Given the description of an element on the screen output the (x, y) to click on. 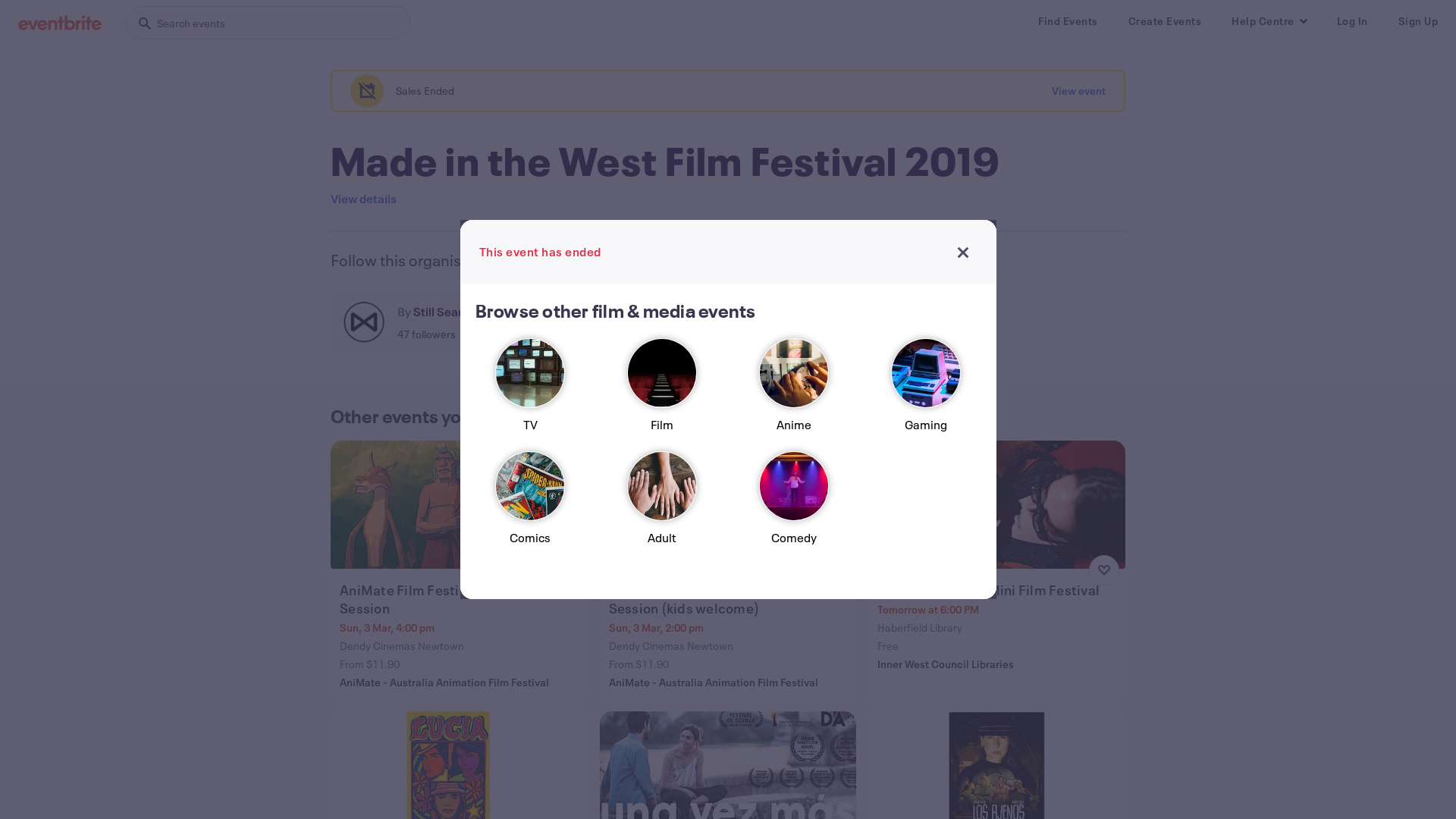
Create Events Element type: text (1165, 21)
Comics Element type: text (530, 504)
Adult Element type: text (661, 504)
Film Element type: text (661, 391)
Log In Element type: text (1351, 21)
Search events Element type: text (268, 22)
Sign Up Element type: text (1418, 21)
Follow Element type: text (609, 321)
TV Element type: text (530, 391)
Anime Element type: text (793, 391)
Young Creatives: Mini Film Festival Element type: text (998, 589)
View details Element type: text (363, 198)
AniMate Film Festival 2024 - 1st Session (kids welcome) Element type: text (729, 598)
View event Element type: text (1078, 90)
Comedy Element type: text (793, 504)
Gaming Element type: text (925, 391)
Eventbrite Element type: hover (59, 22)
AniMate Film Festival 2024 - 2nd Session Element type: text (460, 598)
Find Events Element type: text (1068, 21)
